Given the description of an element on the screen output the (x, y) to click on. 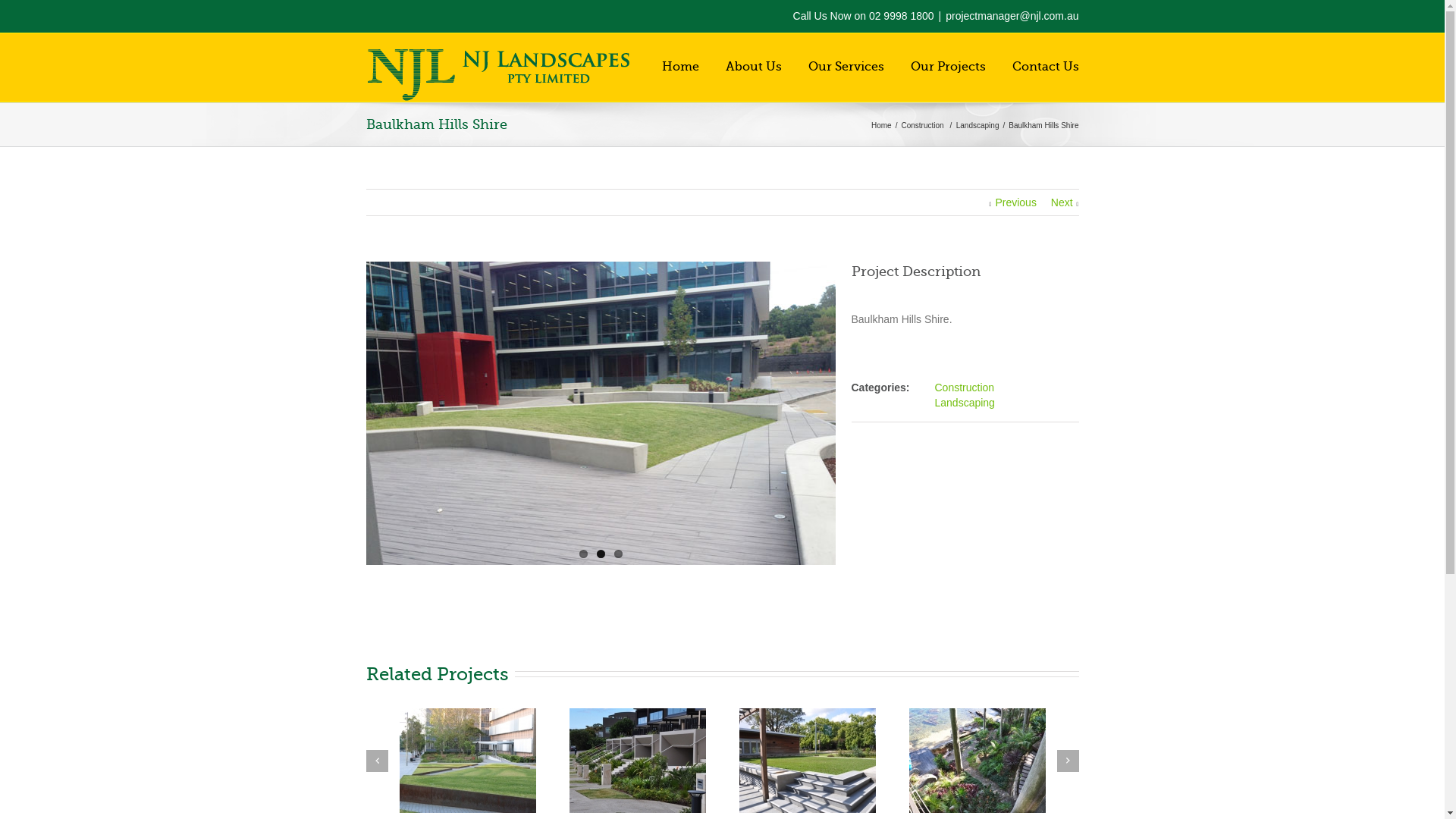
About Us Element type: text (752, 65)
Contact Us Element type: text (1044, 65)
Next Element type: text (1065, 202)
Construction Element type: text (923, 125)
Our Projects Element type: text (947, 65)
projectmanager@njl.com.au Element type: text (1011, 15)
Construction Element type: text (964, 387)
Home Element type: text (883, 125)
1 Element type: text (583, 553)
2 Element type: text (600, 553)
Our Services Element type: text (846, 65)
Landscaping Element type: text (964, 402)
Home Element type: text (679, 65)
Landscaping Element type: text (979, 125)
3 Element type: text (618, 553)
Previous Element type: text (1011, 202)
